Given the description of an element on the screen output the (x, y) to click on. 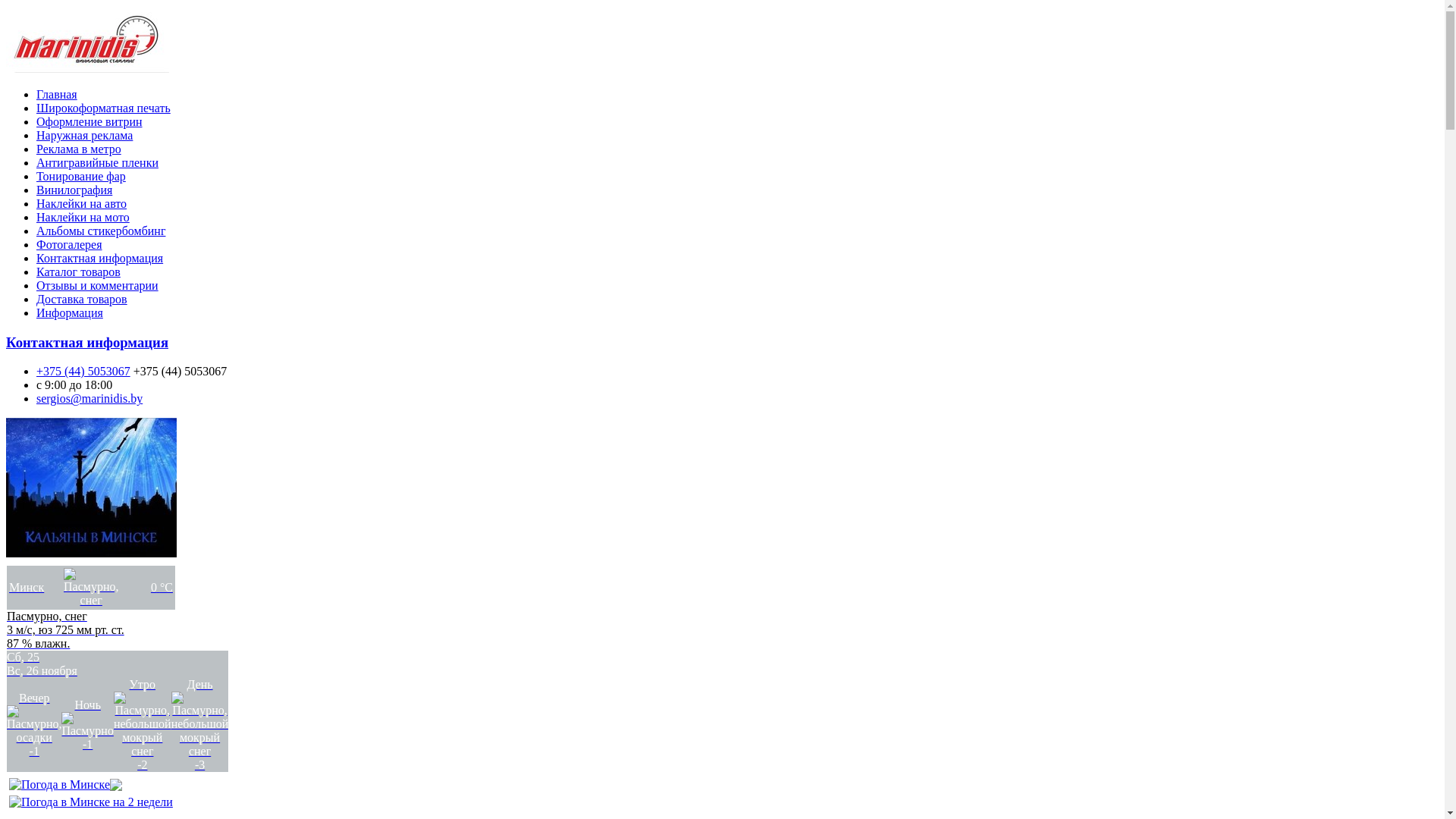
sergios@marinidis.by Element type: text (89, 398)
+375 (44) 5053067 Element type: text (83, 370)
